Given the description of an element on the screen output the (x, y) to click on. 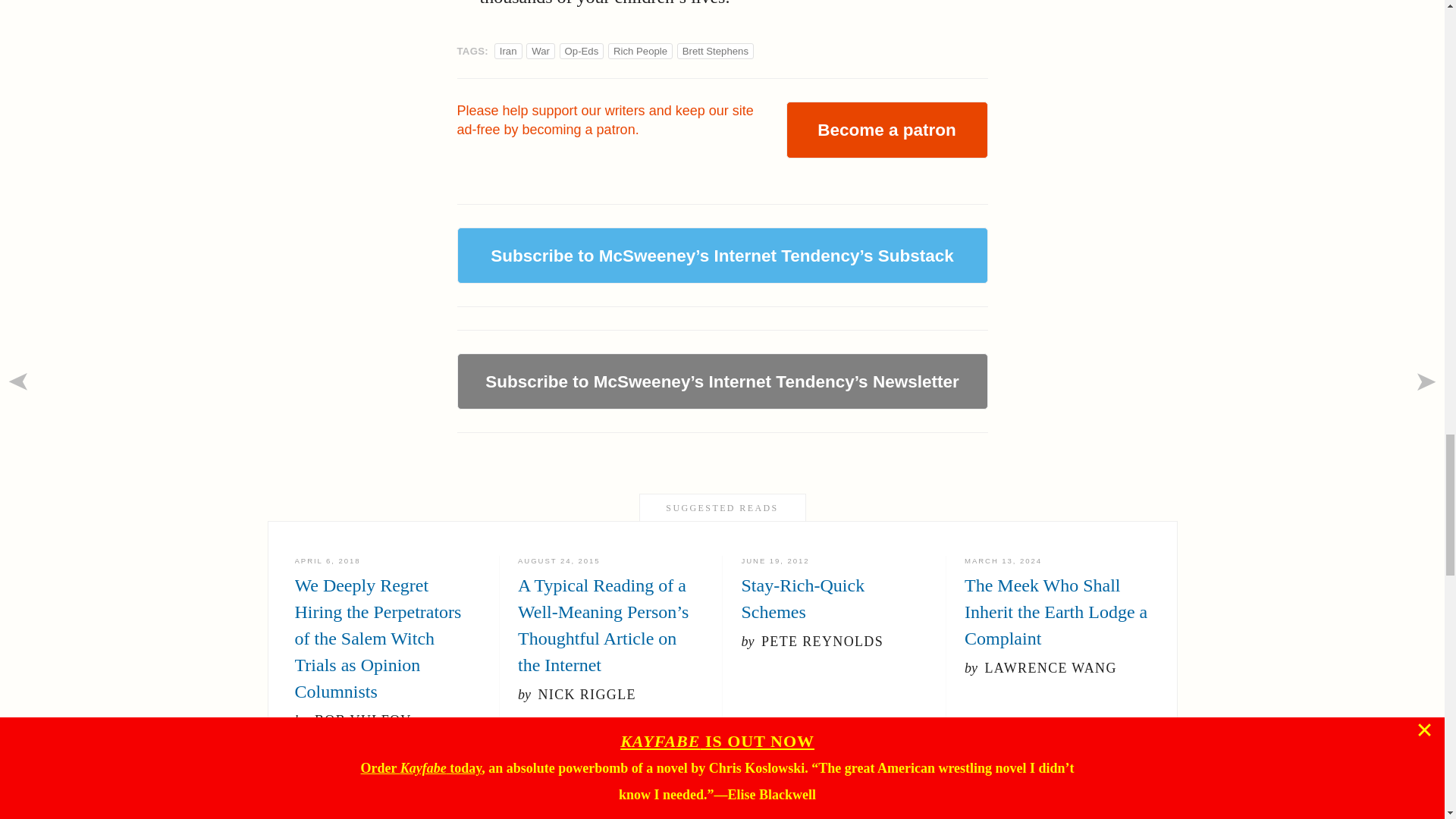
Iran (507, 50)
Op-Eds (581, 50)
Rich People (639, 50)
Brett Stephens (715, 50)
Become a patron (886, 129)
War (834, 590)
